Given the description of an element on the screen output the (x, y) to click on. 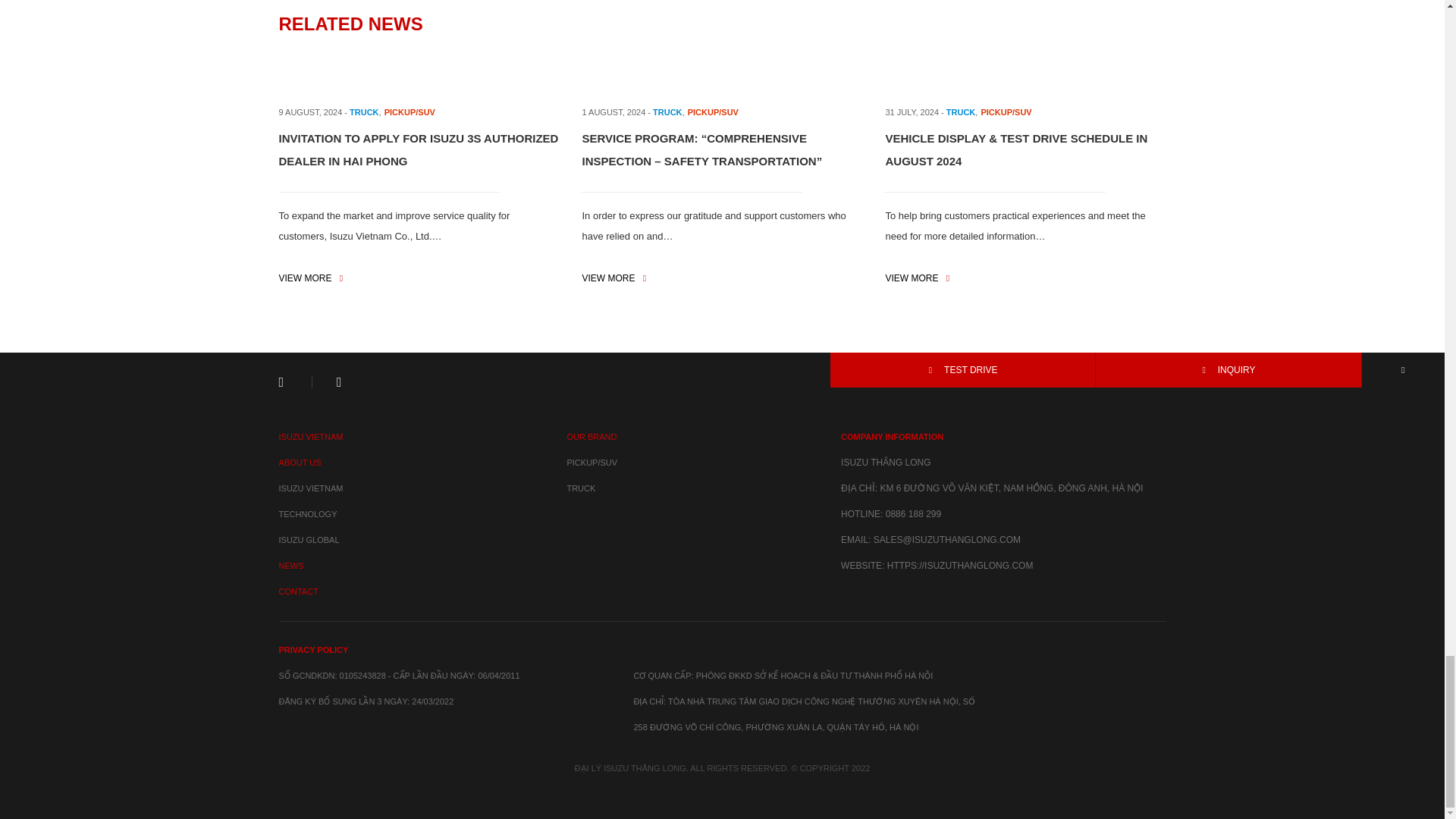
TRUCK (363, 112)
TRUCK (667, 112)
VIEW MORE (311, 277)
VIEW MORE (613, 277)
